Given the description of an element on the screen output the (x, y) to click on. 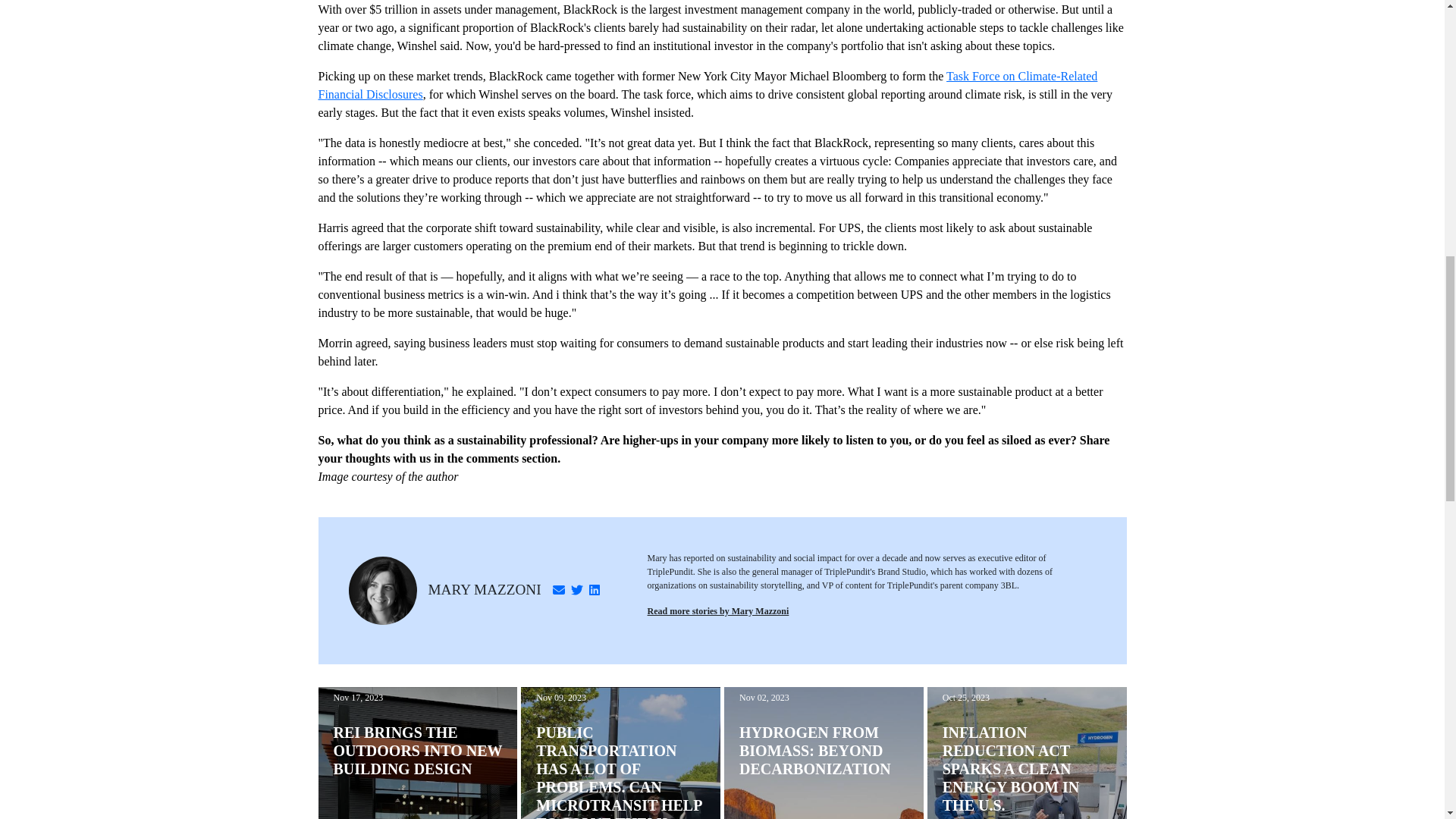
Read more stories by Mary Mazzoni (718, 611)
MARY MAZZONI (484, 589)
Mary Mazzoni author page (484, 589)
Mary Mazzoni author page (718, 611)
Task Force on Climate-Related Financial Disclosures (707, 84)
